Given the description of an element on the screen output the (x, y) to click on. 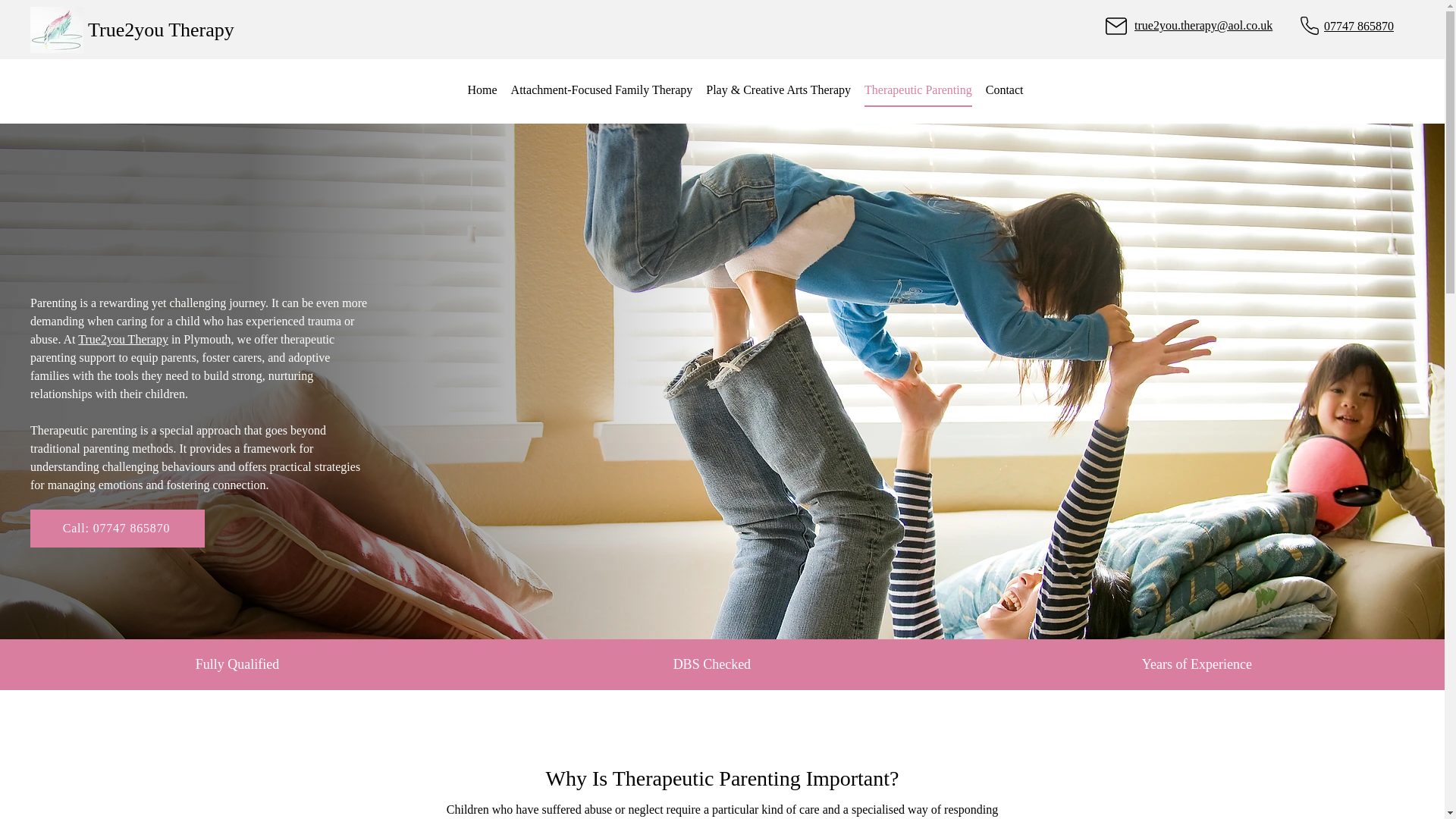
Contact (1004, 91)
Therapeutic Parenting (918, 91)
Home (481, 91)
True2you Therapy (160, 29)
True2you Therapy (123, 338)
Attachment-Focused Family Therapy (602, 91)
07747 865870 (1358, 25)
Call: 07747 865870 (117, 528)
